Given the description of an element on the screen output the (x, y) to click on. 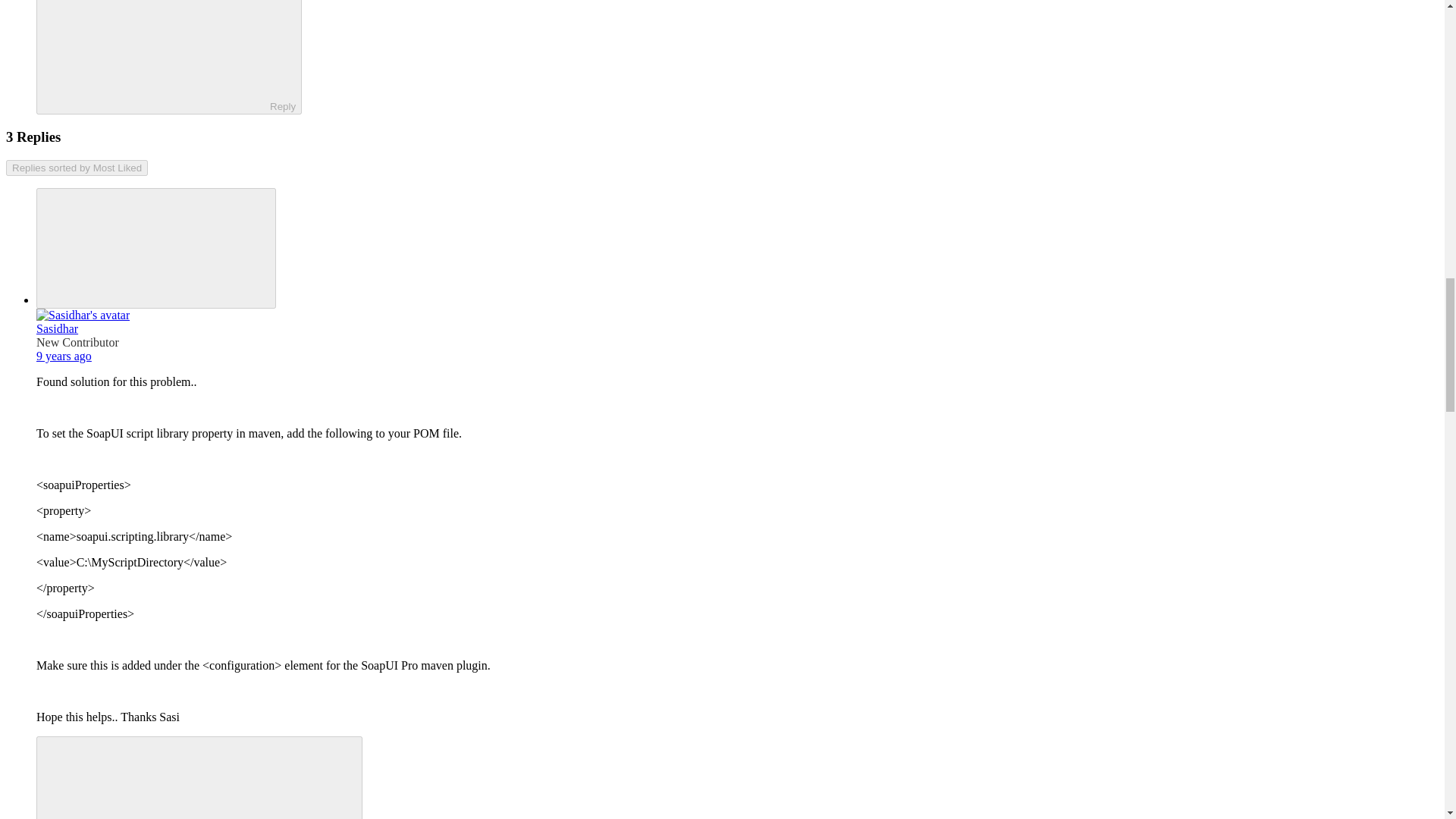
August 7, 2015 at 9:00 AM (63, 355)
Replies sorted by Most Liked (76, 167)
Sasidhar (57, 328)
ReplyReply (168, 57)
Marked as Solution (199, 777)
Reply (155, 54)
9 years ago (63, 355)
